Given the description of an element on the screen output the (x, y) to click on. 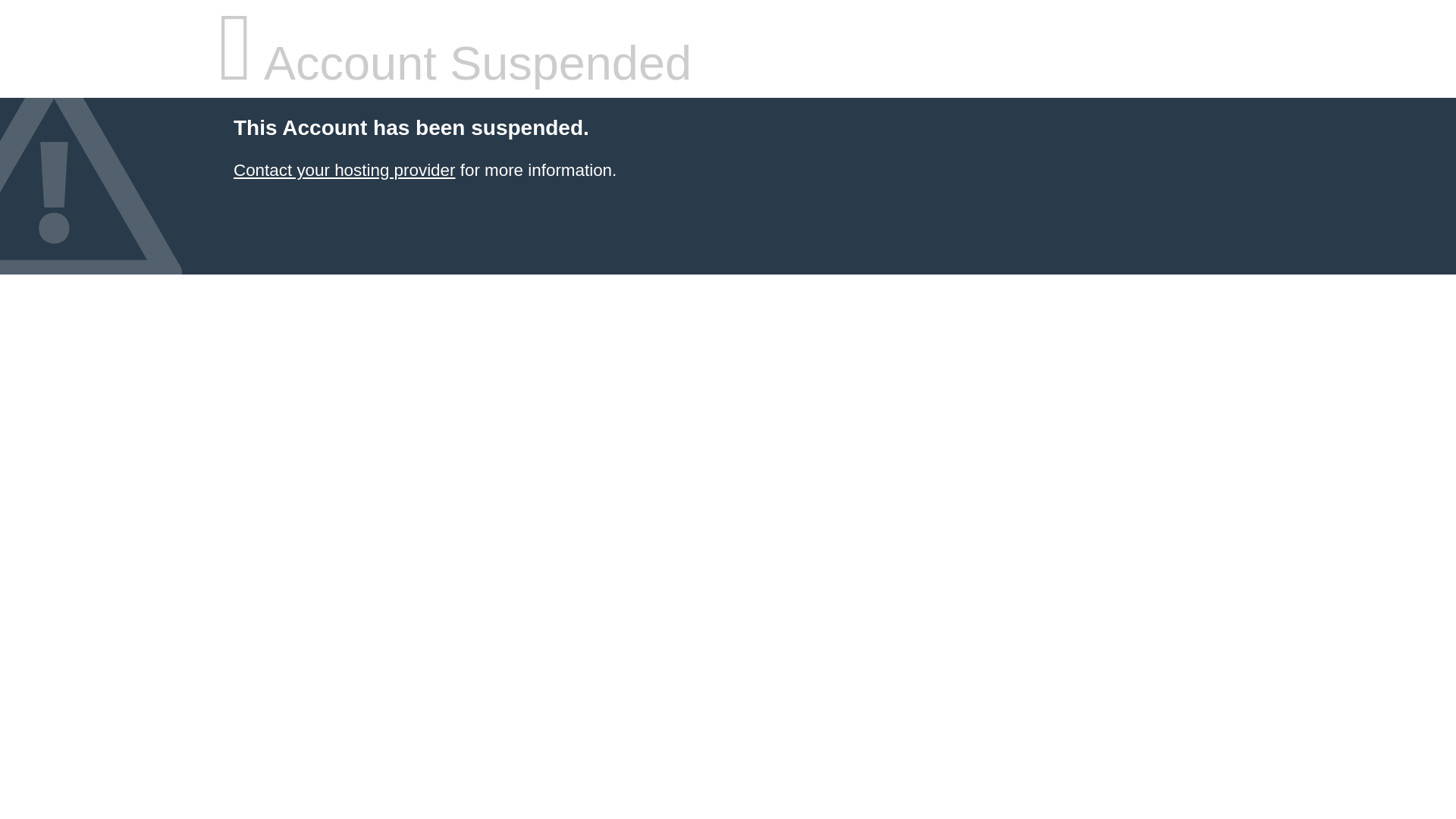
Contact your hosting provider (343, 169)
